Given the description of an element on the screen output the (x, y) to click on. 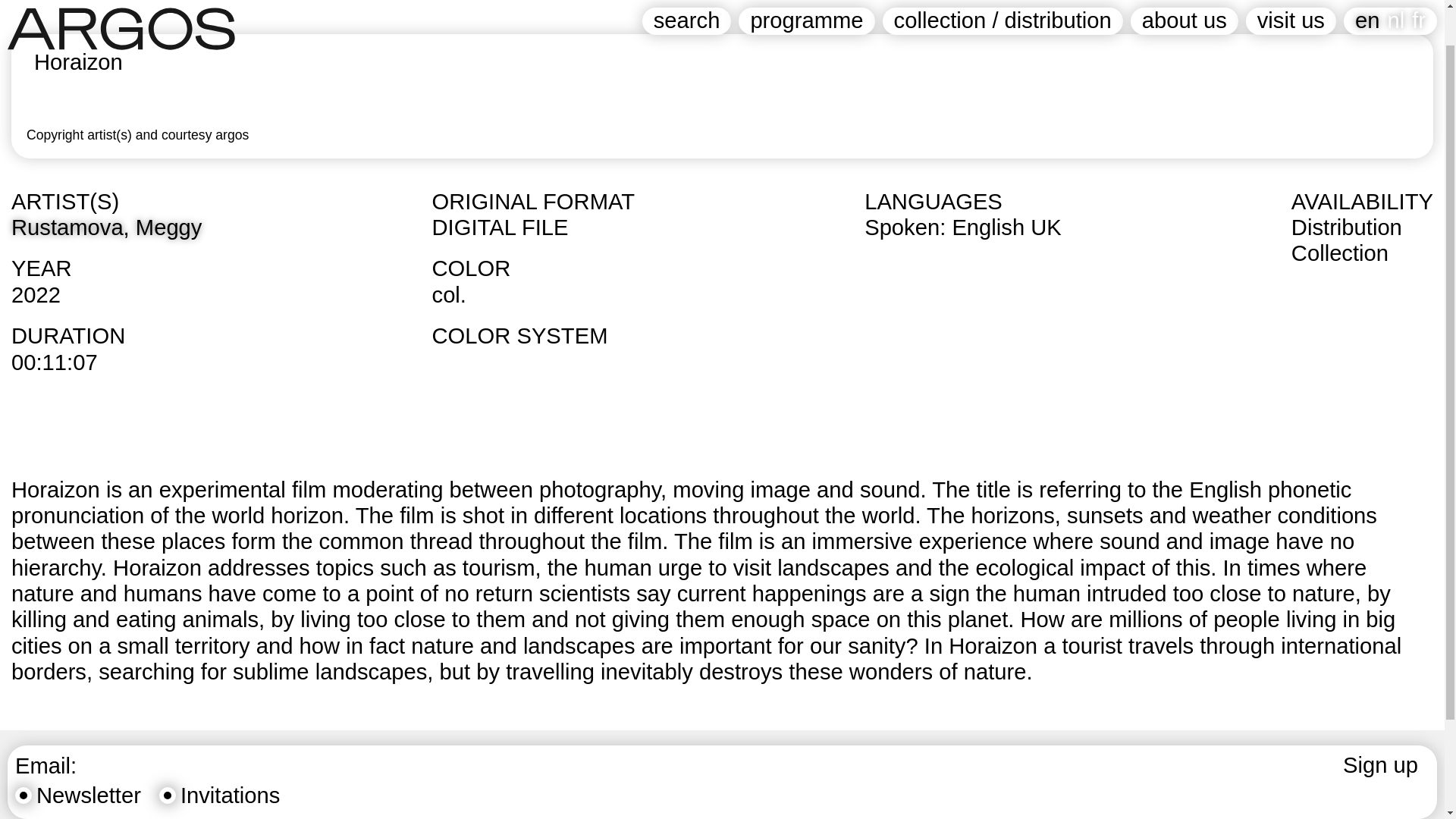
Privacy policy (204, 731)
Sign up (1380, 766)
D-E-A-L (504, 731)
Sign up (1380, 766)
Facebook (44, 731)
Instagram (118, 731)
waanz.in (704, 731)
Rustamova, Meggy (106, 227)
